Given the description of an element on the screen output the (x, y) to click on. 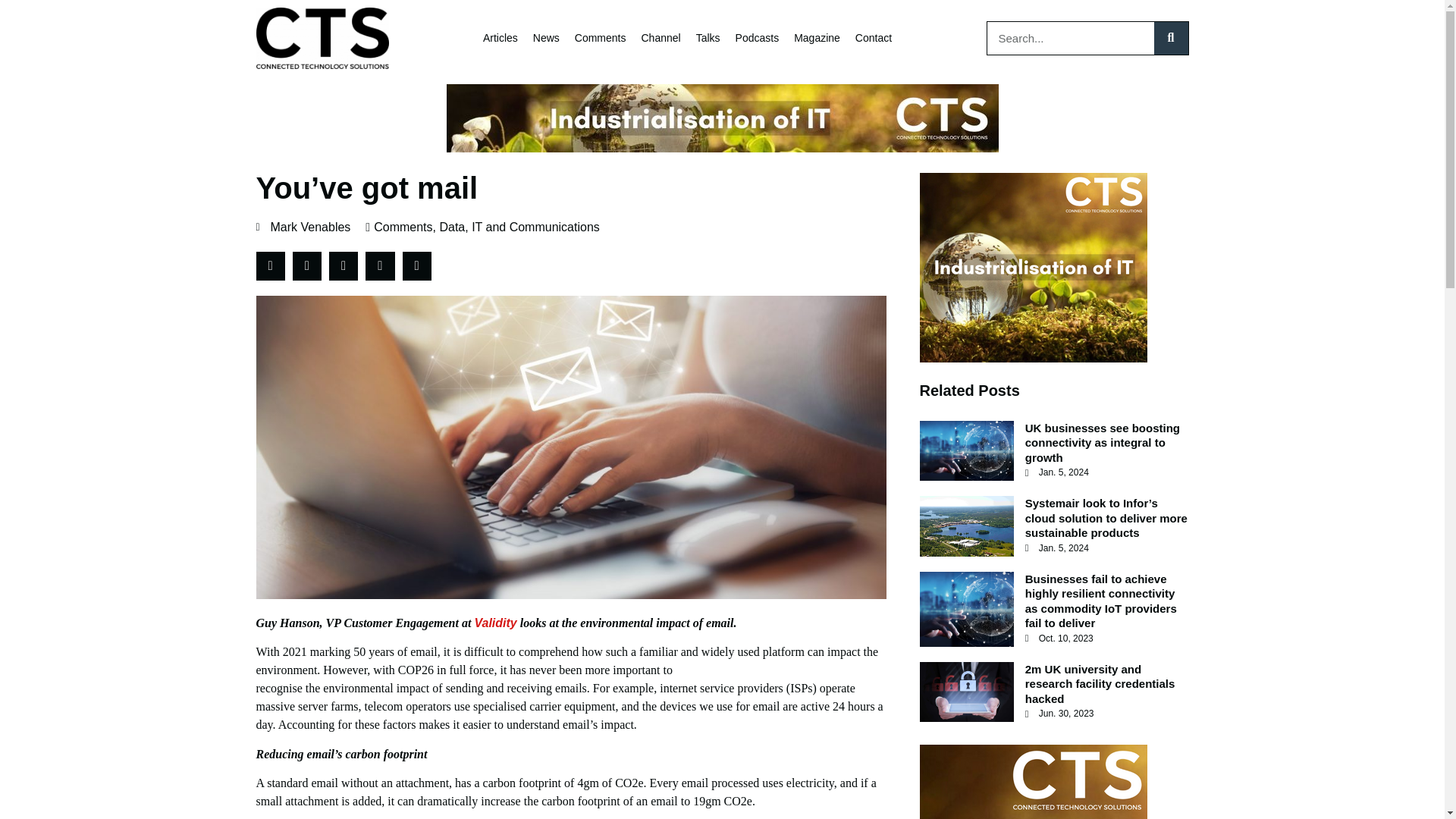
Mark Venables (303, 227)
Contact (873, 37)
Magazine (816, 37)
Channel (661, 37)
Comments (600, 37)
Podcasts (756, 37)
Articles (500, 37)
Data, IT and Communications (518, 227)
Comments (403, 227)
